Given the description of an element on the screen output the (x, y) to click on. 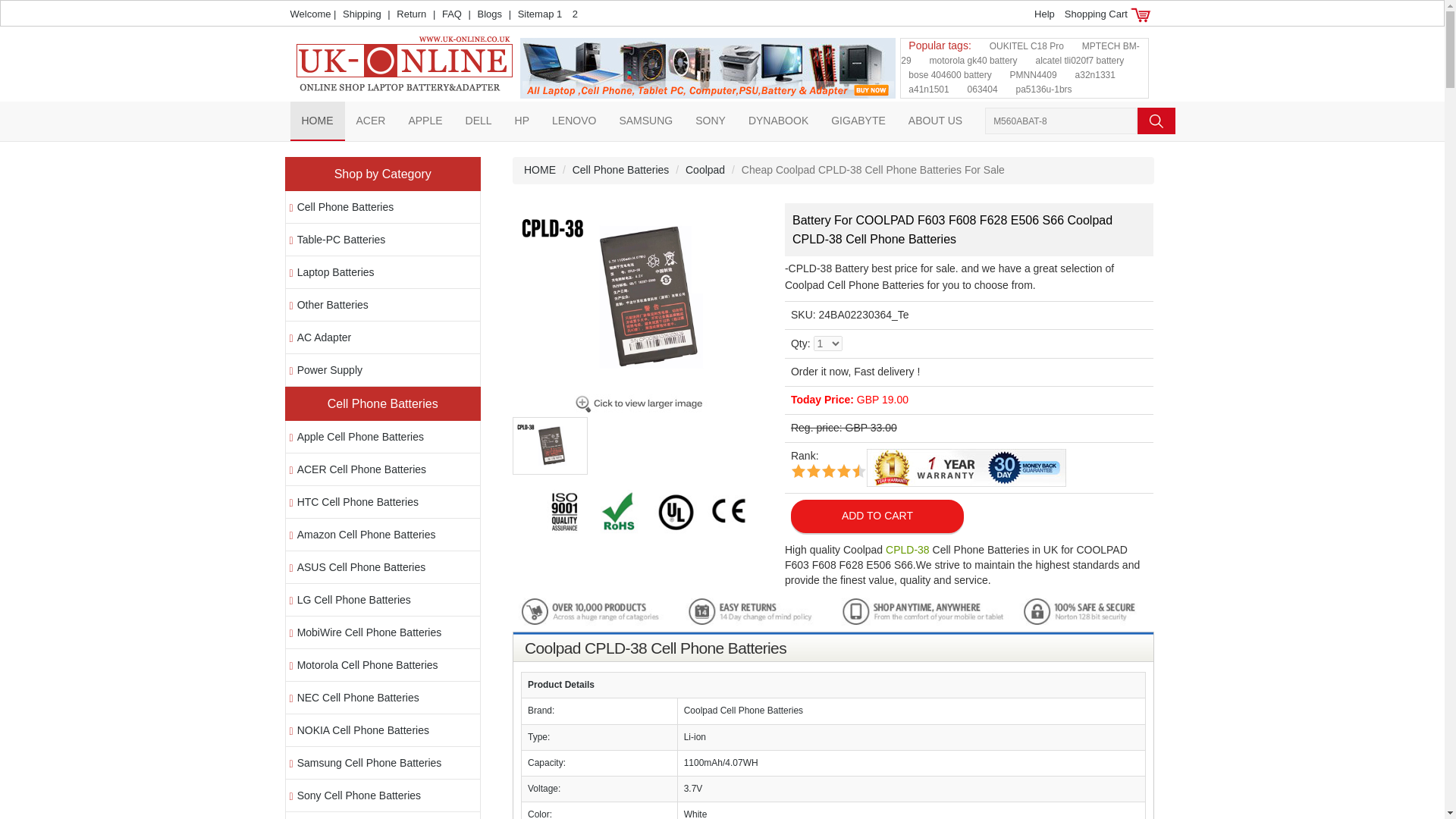
a32n1331 (1095, 74)
ABOUT US (935, 120)
DELL (478, 120)
Table-PC Batteries (341, 239)
ACER (369, 120)
SAMSUNG (645, 120)
DYNABOOK (777, 120)
HOME (316, 120)
OUKITEL C18 Pro (1027, 45)
Cell Phone Batteries (345, 206)
